Given the description of an element on the screen output the (x, y) to click on. 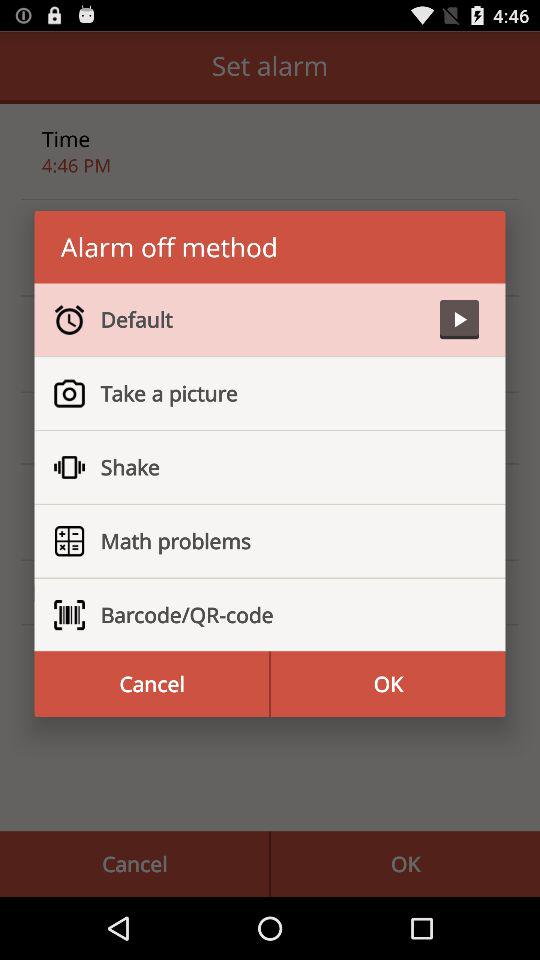
jump to the shake app (281, 467)
